Given the description of an element on the screen output the (x, y) to click on. 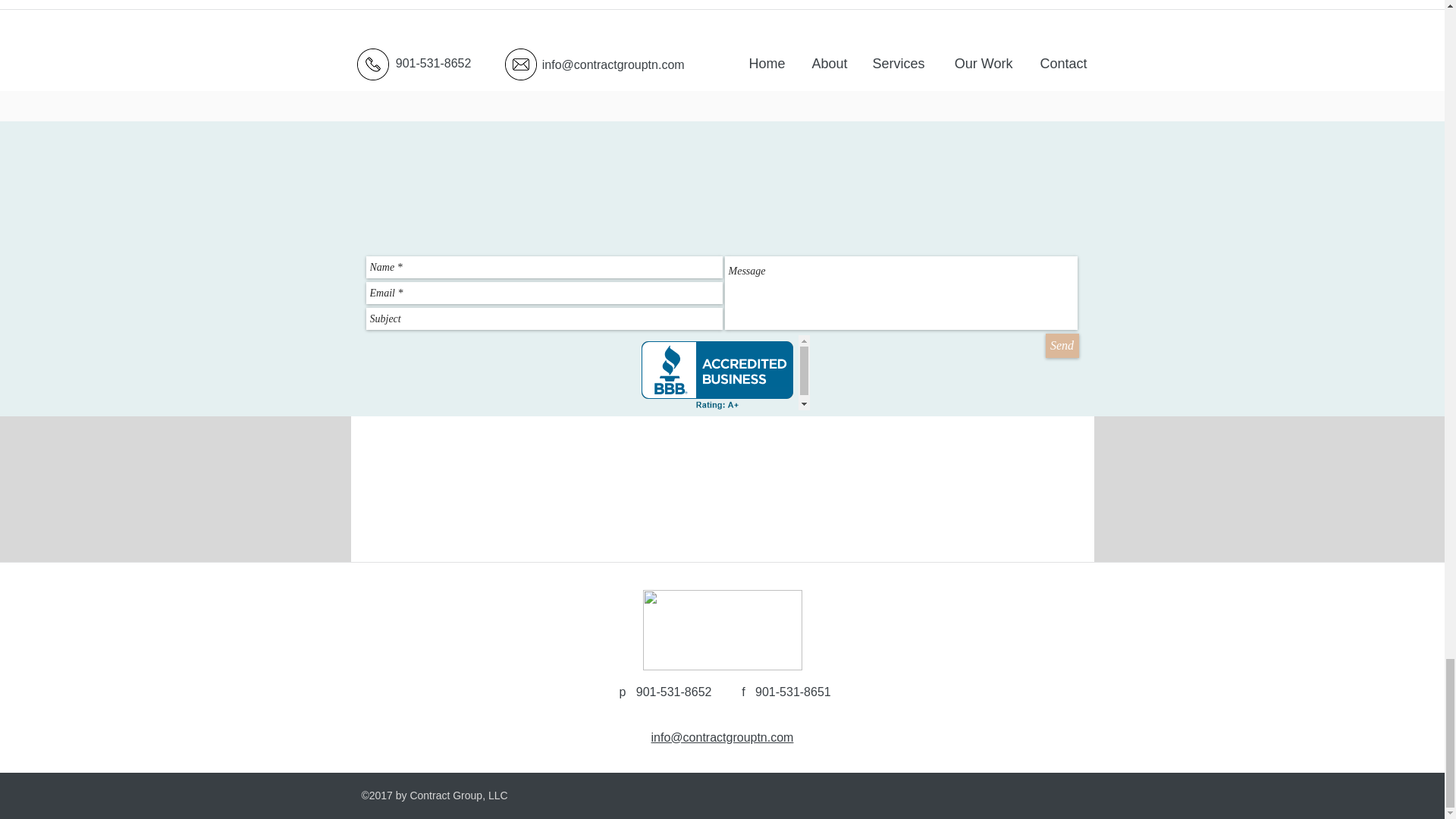
Embedded Content (721, 372)
p   901-531-8652 (665, 691)
Send (1061, 345)
